Given the description of an element on the screen output the (x, y) to click on. 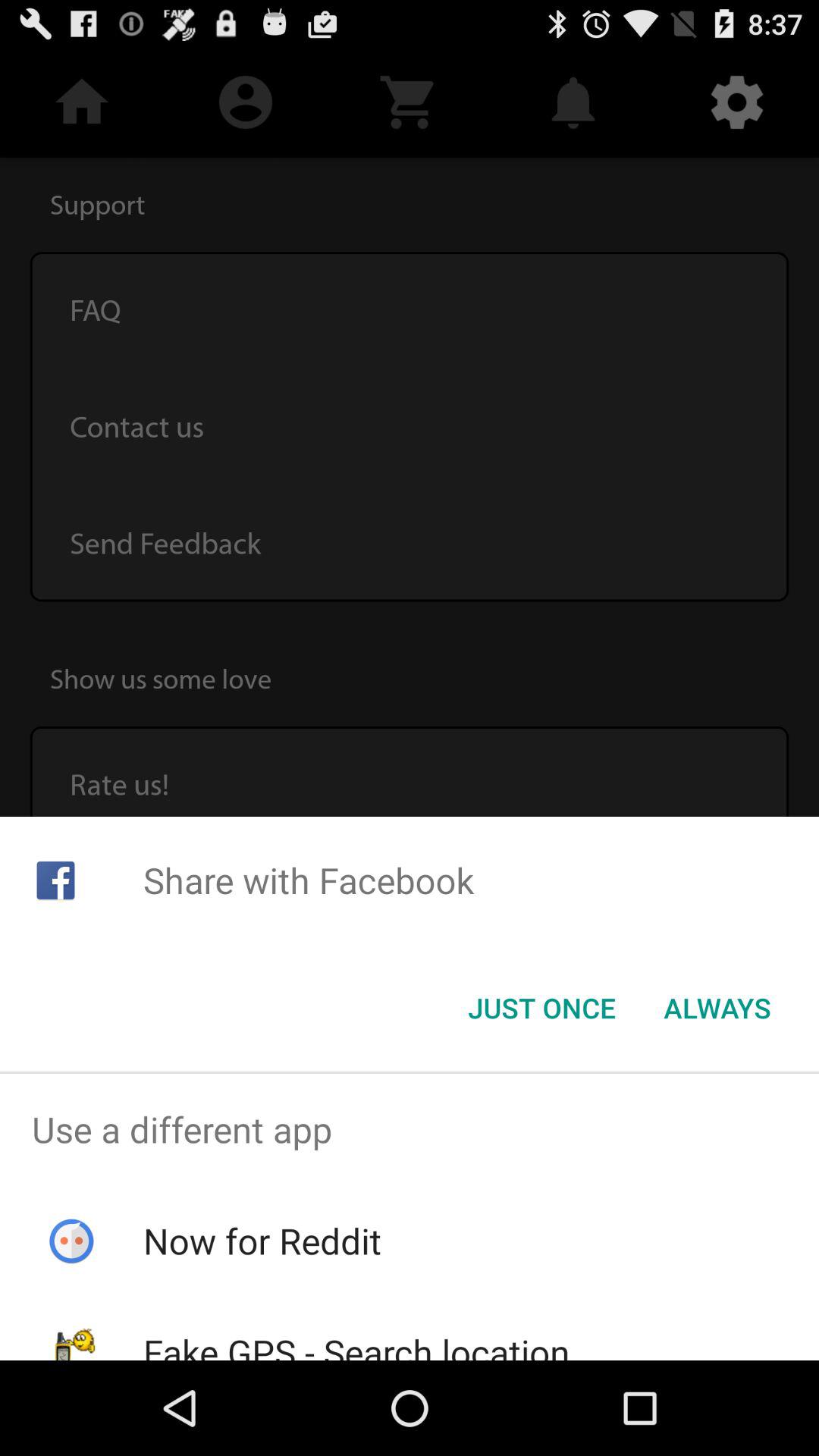
scroll to now for reddit (262, 1240)
